Given the description of an element on the screen output the (x, y) to click on. 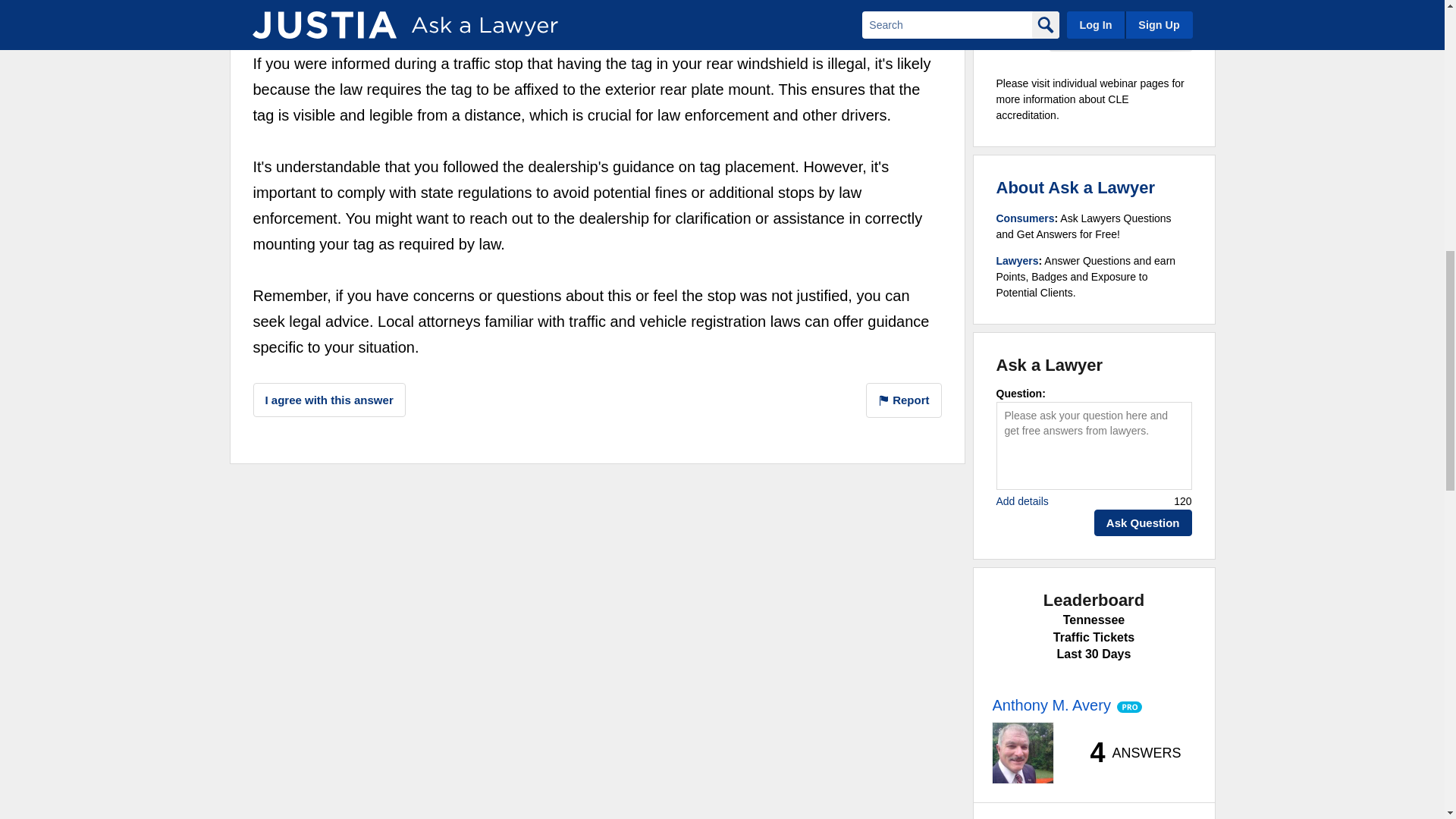
Ask a Lawyer - Leaderboard - Lawyer Photo (1021, 752)
Ask a Lawyer - Leaderboard - Lawyer Name (1050, 704)
Ask a Lawyer - Leaderboard - Lawyer Stats (1127, 752)
Ask a Lawyer - FAQs - Lawyers (1017, 260)
Ask a Lawyer - FAQs - Consumers (1024, 218)
